Given the description of an element on the screen output the (x, y) to click on. 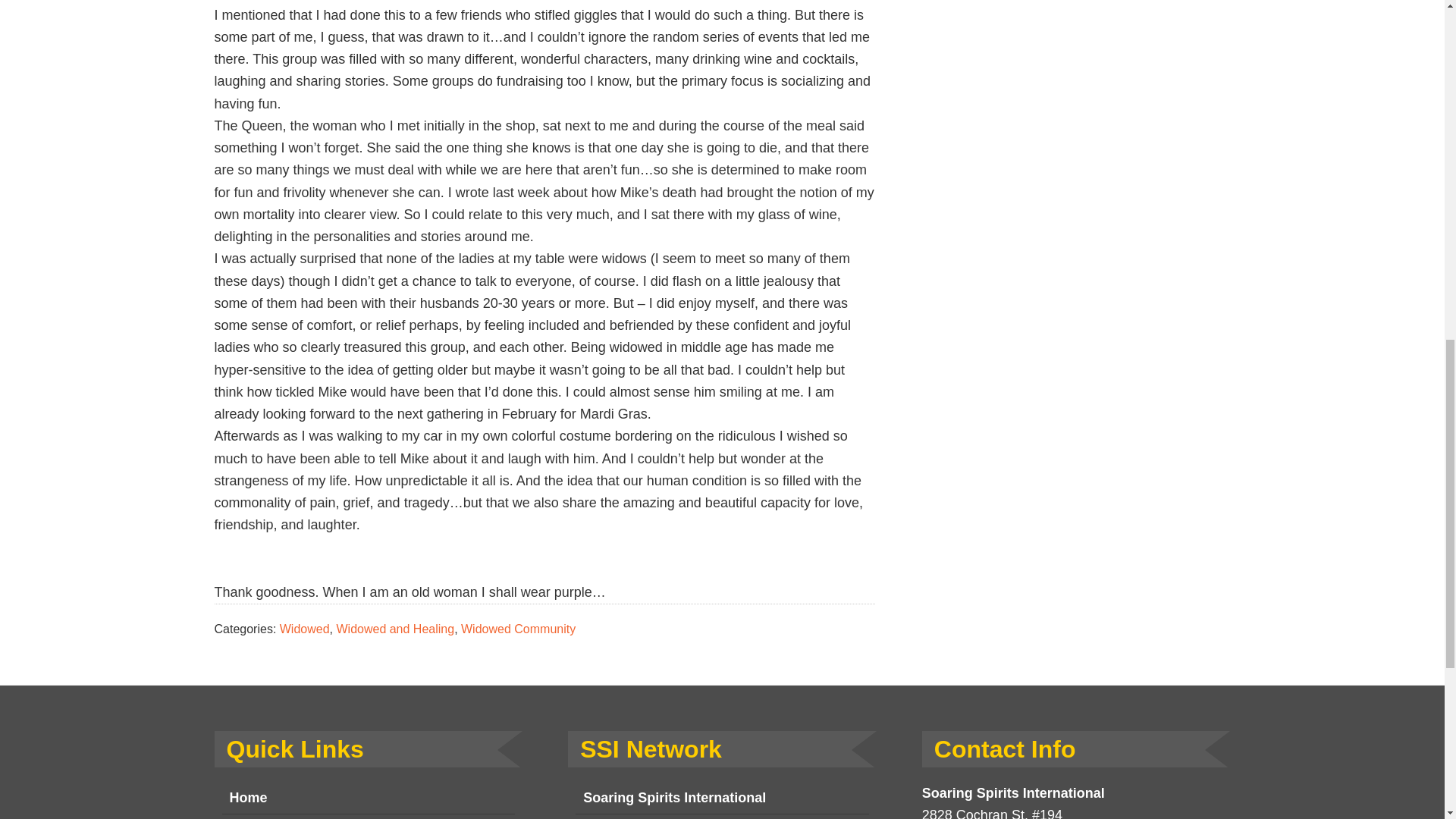
Widowed and Healing (395, 628)
Home (368, 798)
Soaring Spirits International (722, 798)
Blog (368, 816)
Widowed Community (518, 628)
Widowed (304, 628)
Camp Widow (722, 816)
